Given the description of an element on the screen output the (x, y) to click on. 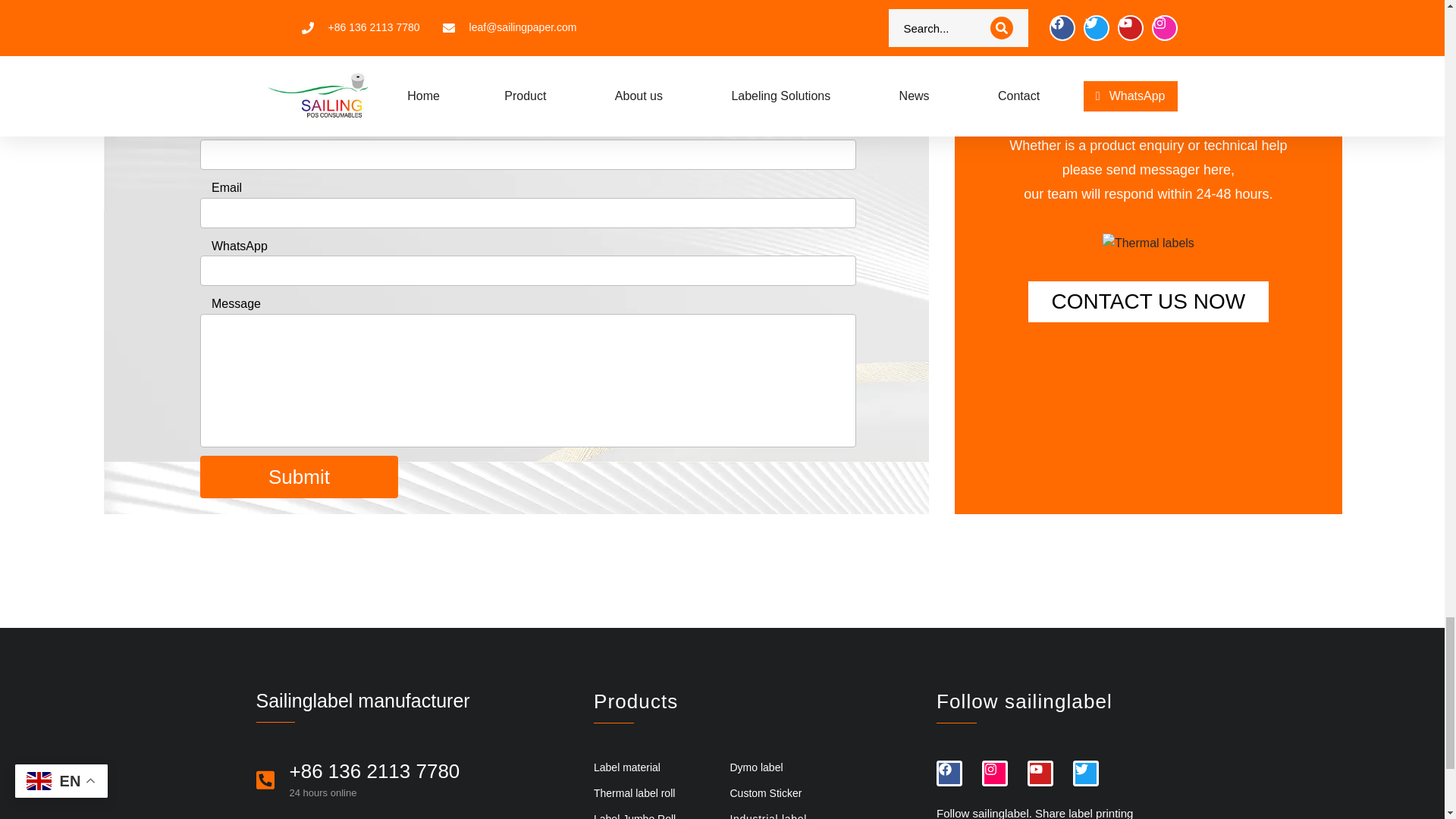
Thermal labels (1147, 243)
Submit (298, 476)
